Given the description of an element on the screen output the (x, y) to click on. 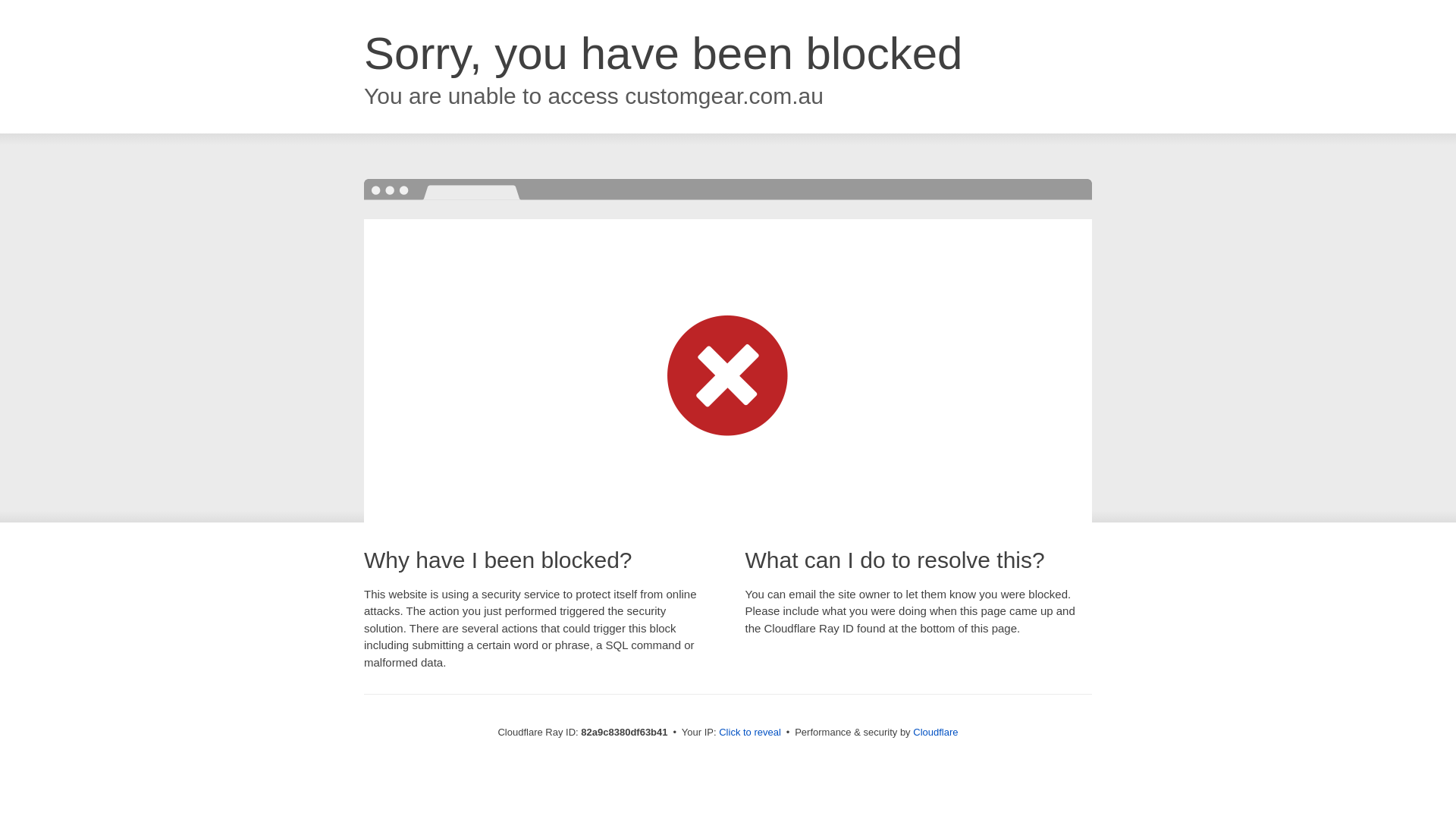
Cloudflare Element type: text (935, 731)
Click to reveal Element type: text (749, 732)
